Given the description of an element on the screen output the (x, y) to click on. 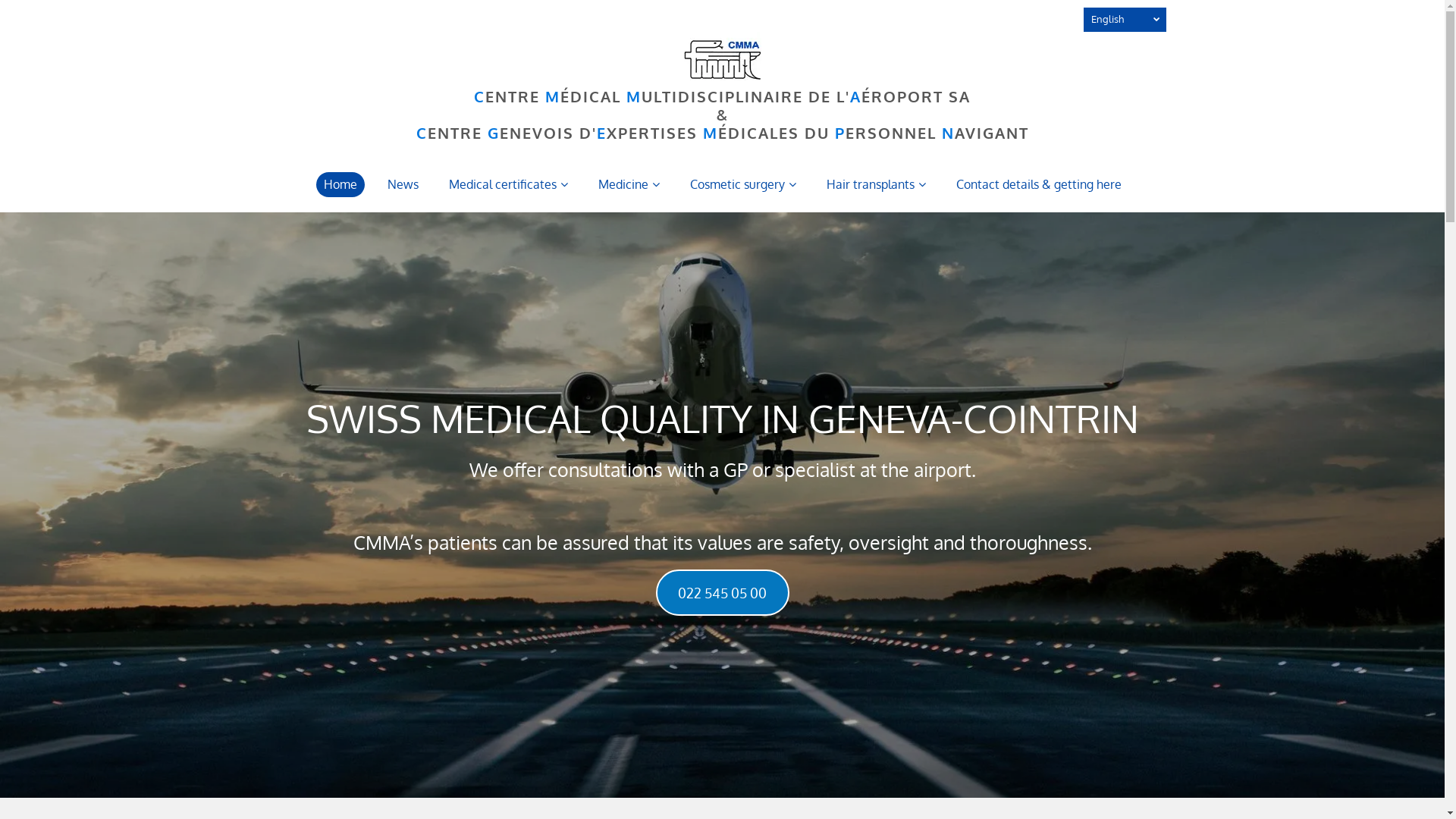
Contact details & getting here Element type: text (1037, 184)
M Element type: text (709, 132)
XPERTISES Element type: text (651, 132)
E Element type: text (600, 132)
C Element type: text (420, 132)
ENTRE Element type: text (454, 132)
G Element type: text (492, 132)
Medicine Element type: text (627, 184)
A Element type: text (855, 96)
Cosmetic surgery Element type: text (742, 184)
P Element type: text (839, 132)
M Element type: text (552, 96)
News Element type: text (402, 184)
C Element type: text (479, 96)
AVIGANT Element type: text (990, 132)
N Element type: text (947, 132)
ENTRE Element type: text (512, 96)
English Element type: text (1123, 19)
ENEVOIS D' Element type: text (547, 132)
M Element type: text (633, 96)
ULTIDISCIPLINAIRE DE L' Element type: text (745, 96)
Medical certificates Element type: text (508, 184)
Home Element type: text (339, 184)
ERSONNEL Element type: text (889, 132)
Hair transplants Element type: text (876, 184)
